Given the description of an element on the screen output the (x, y) to click on. 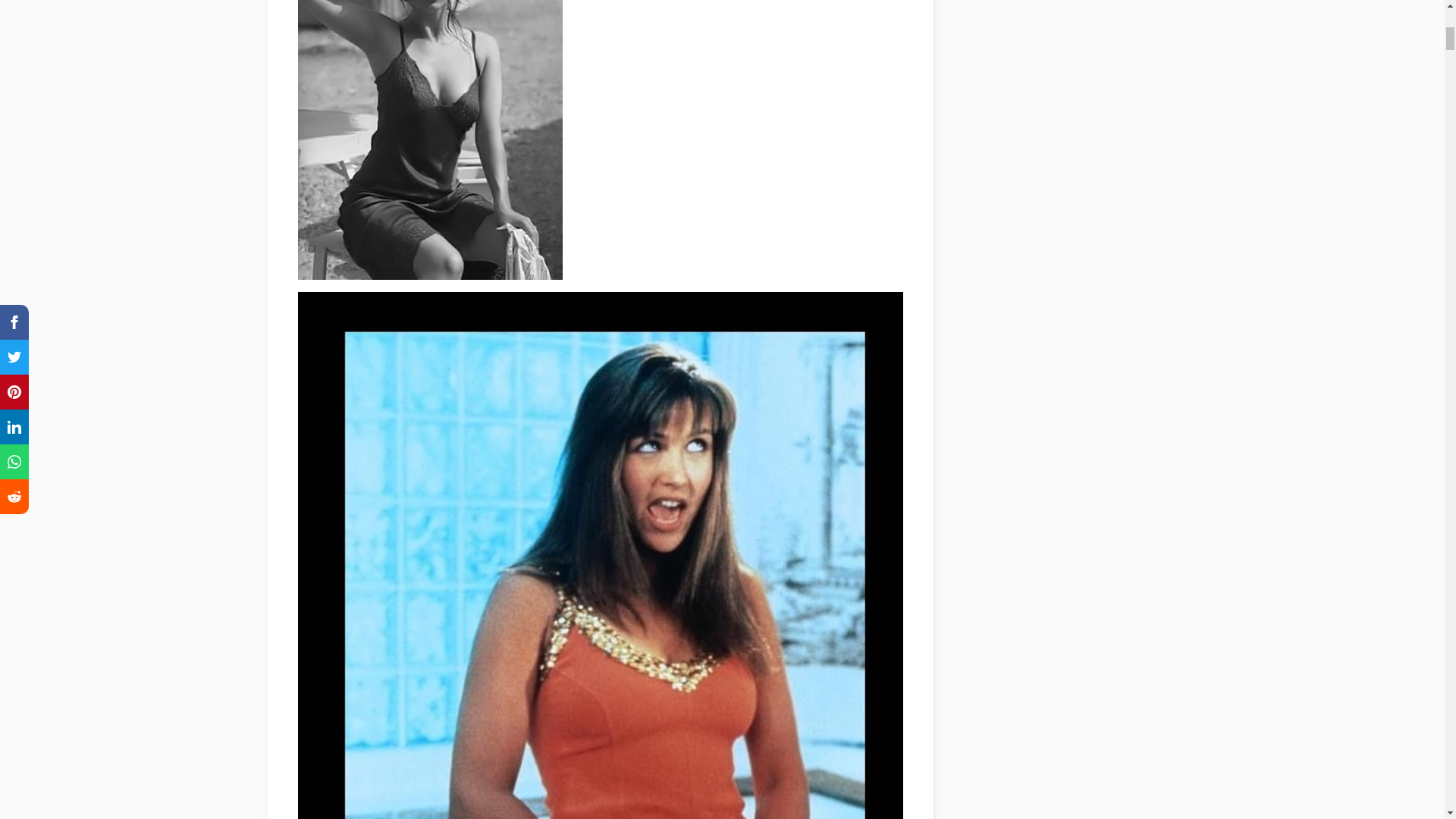
Scroll back to top (1406, 720)
